Given the description of an element on the screen output the (x, y) to click on. 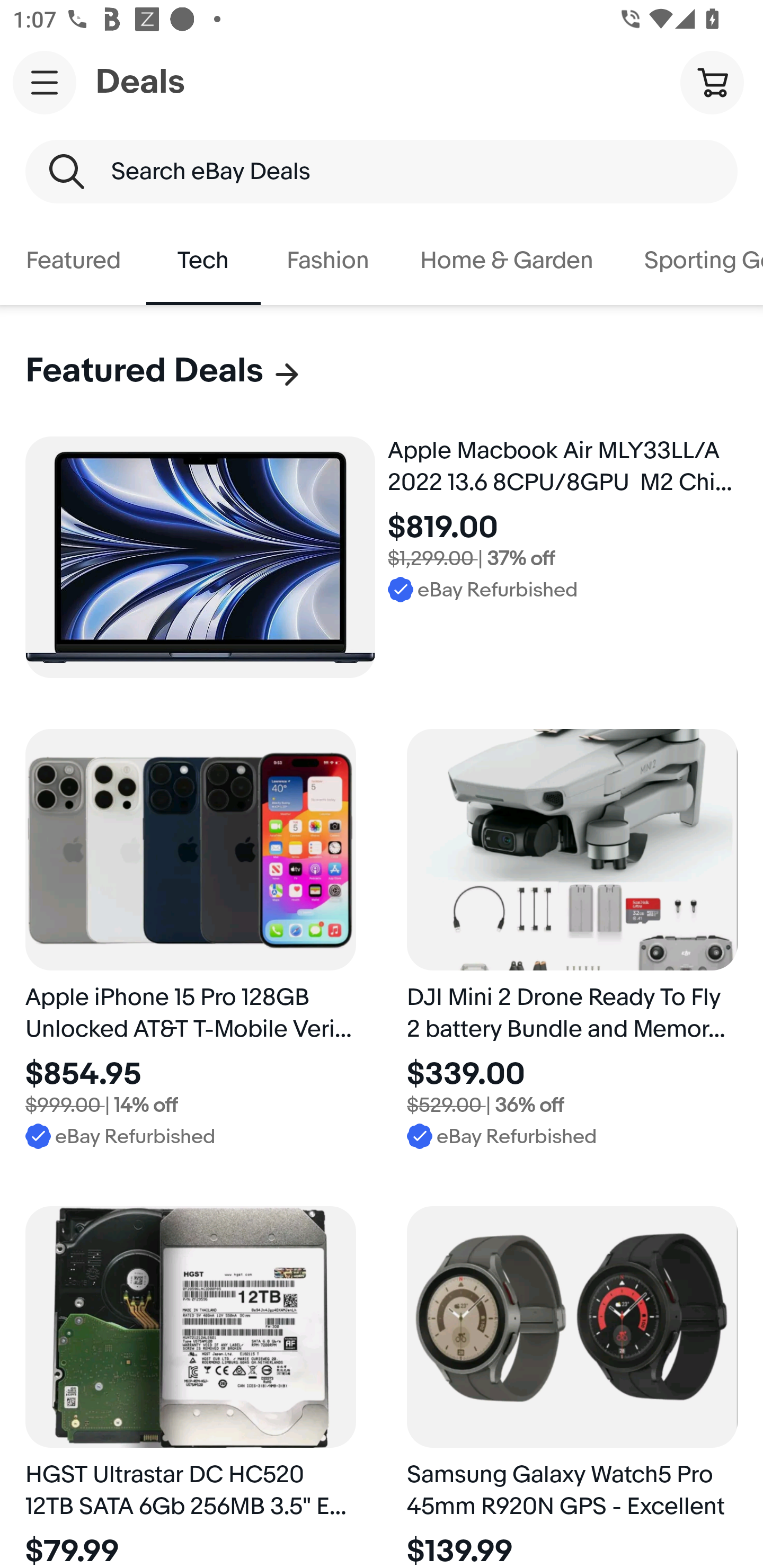
Main navigation, open (44, 82)
Cart button shopping cart (711, 81)
Search eBay Deals Search Keyword Search eBay Deals (381, 171)
Featured. Button. 1 of 7. Featured (73, 260)
Fashion. Button. 3 of 7. Fashion (327, 260)
Home & Garden. Button. 4 of 7. Home & Garden (506, 260)
Featured Deals   Featured Deals,7 items (163, 370)
